Given the description of an element on the screen output the (x, y) to click on. 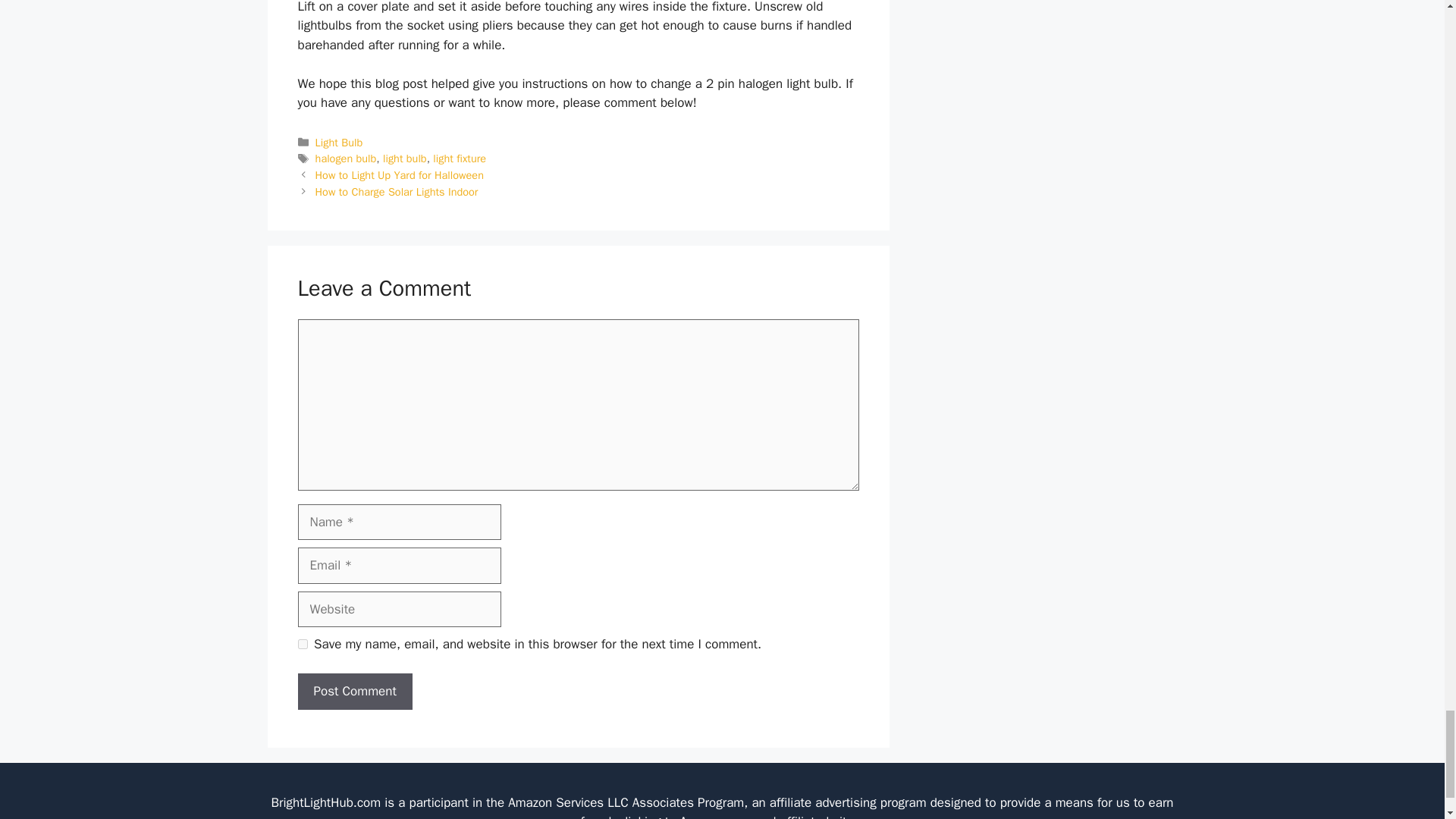
yes (302, 644)
Light Bulb (338, 142)
How to Charge Solar Lights Indoor (397, 192)
halogen bulb (346, 158)
Post Comment (354, 691)
Post Comment (354, 691)
light bulb (404, 158)
How to Light Up Yard for Halloween (399, 174)
light fixture (459, 158)
